Given the description of an element on the screen output the (x, y) to click on. 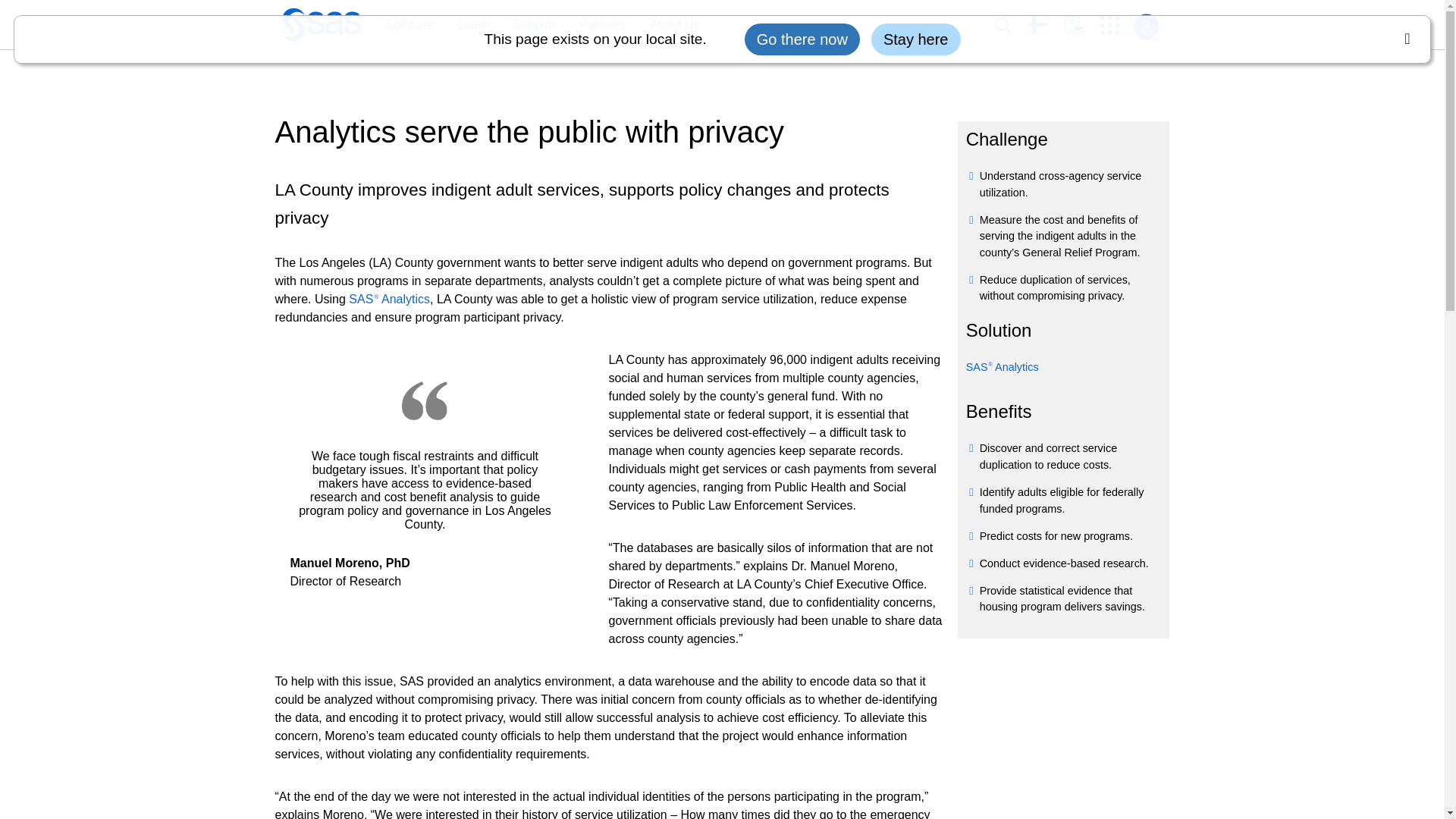
Learn (472, 24)
Contact Us (1082, 25)
Support (534, 24)
Partners (602, 24)
Partners (595, 24)
Learn (465, 24)
Sign In (1145, 26)
Support (526, 24)
About Us (674, 24)
About Us (667, 24)
SAS Sites (1114, 25)
Worldwide Sites (1046, 24)
Software (409, 24)
Software (401, 24)
